Given the description of an element on the screen output the (x, y) to click on. 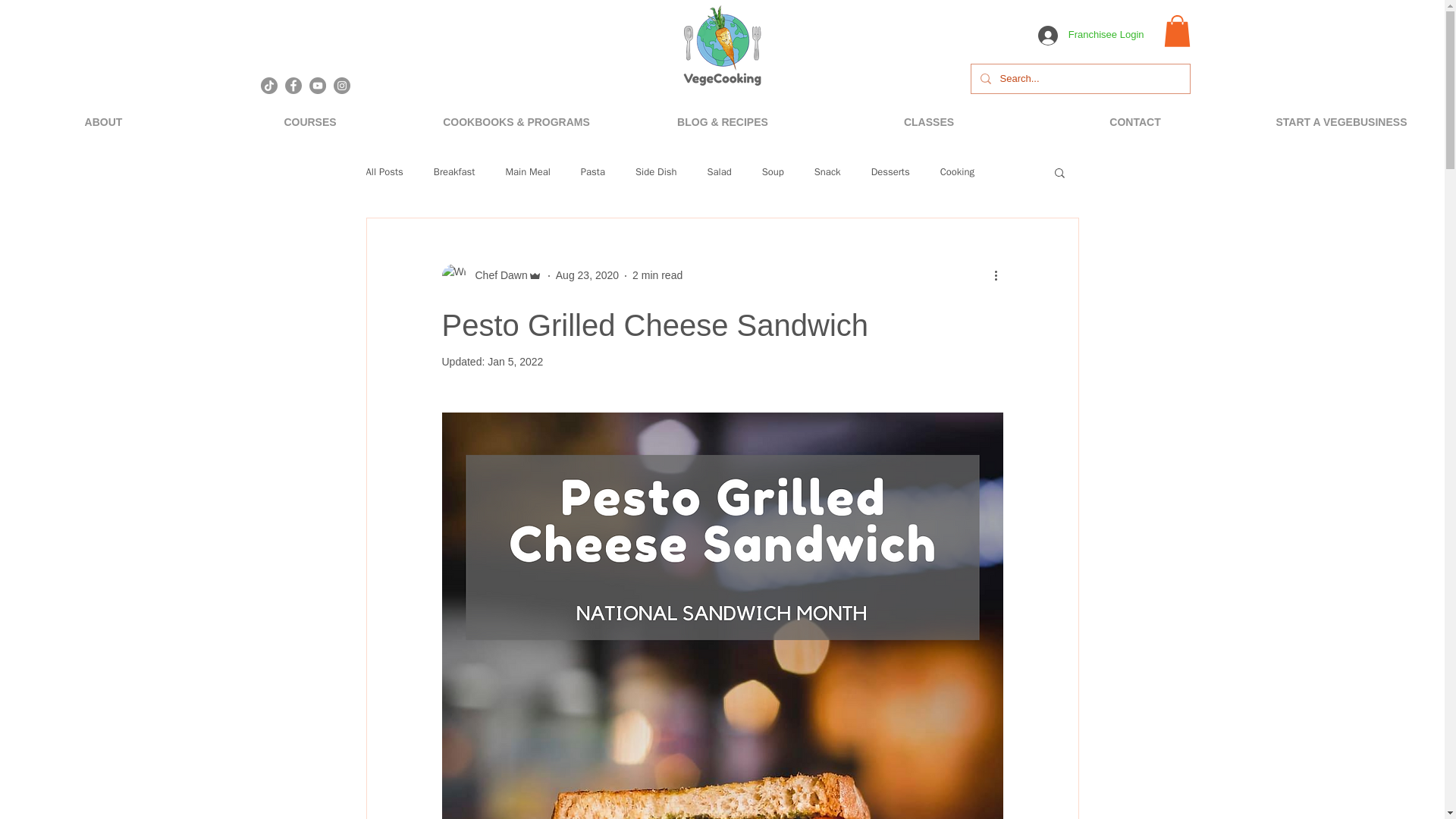
Jan 5, 2022 (515, 361)
Aug 23, 2020 (587, 275)
Chef Dawn (491, 275)
ABOUT (103, 122)
Franchisee Login (1090, 35)
Breakfast (454, 172)
Chef Dawn (496, 275)
Soup (772, 172)
Pasta (592, 172)
Snack (827, 172)
